Given the description of an element on the screen output the (x, y) to click on. 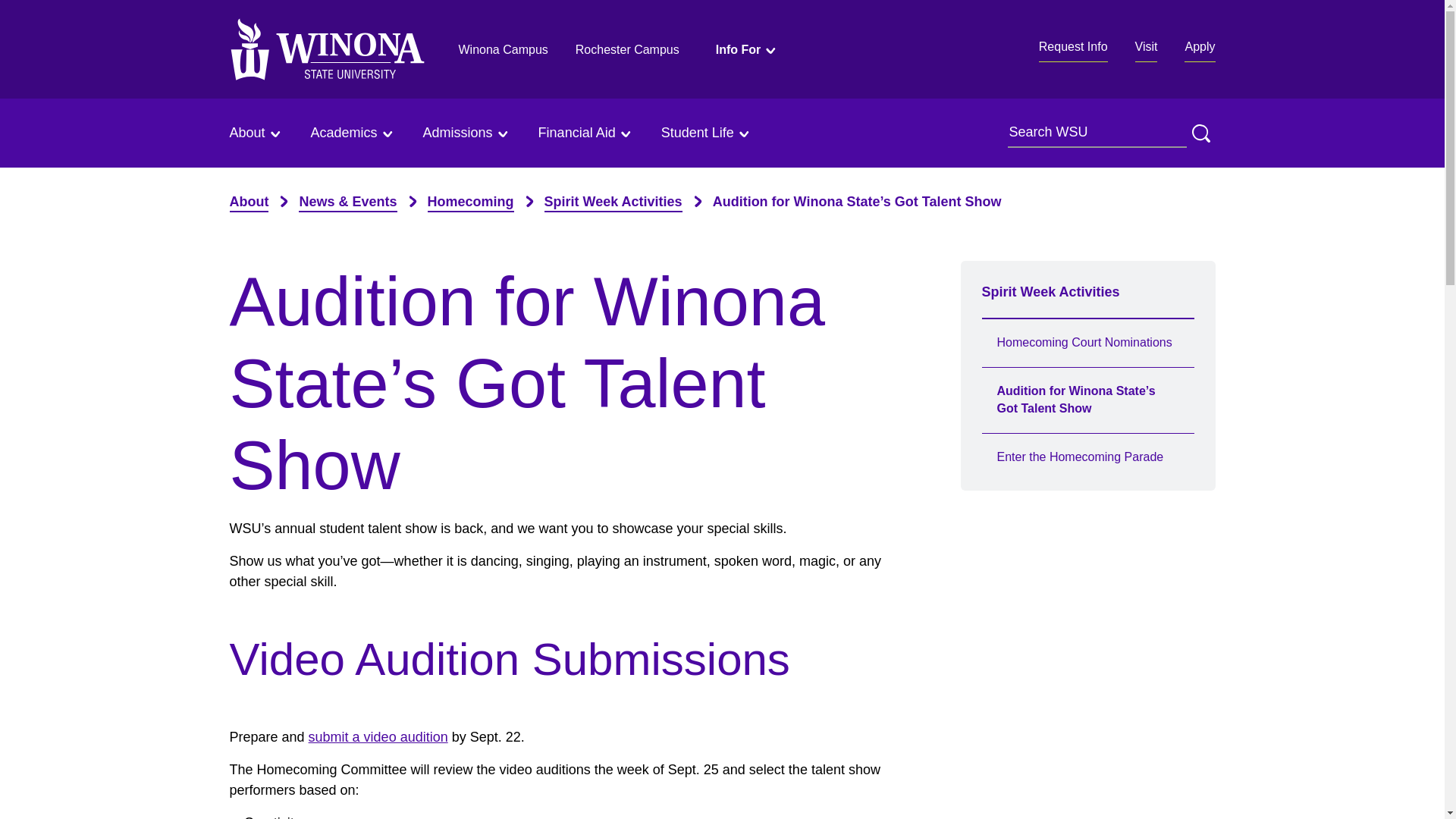
Apply (1199, 49)
Request Info (1073, 49)
Academics (353, 132)
Visit (1146, 49)
Winona State University (326, 49)
Rochester Campus (627, 48)
Admissions (467, 132)
Info For (747, 49)
Winona Campus (502, 48)
About (255, 132)
